Given the description of an element on the screen output the (x, y) to click on. 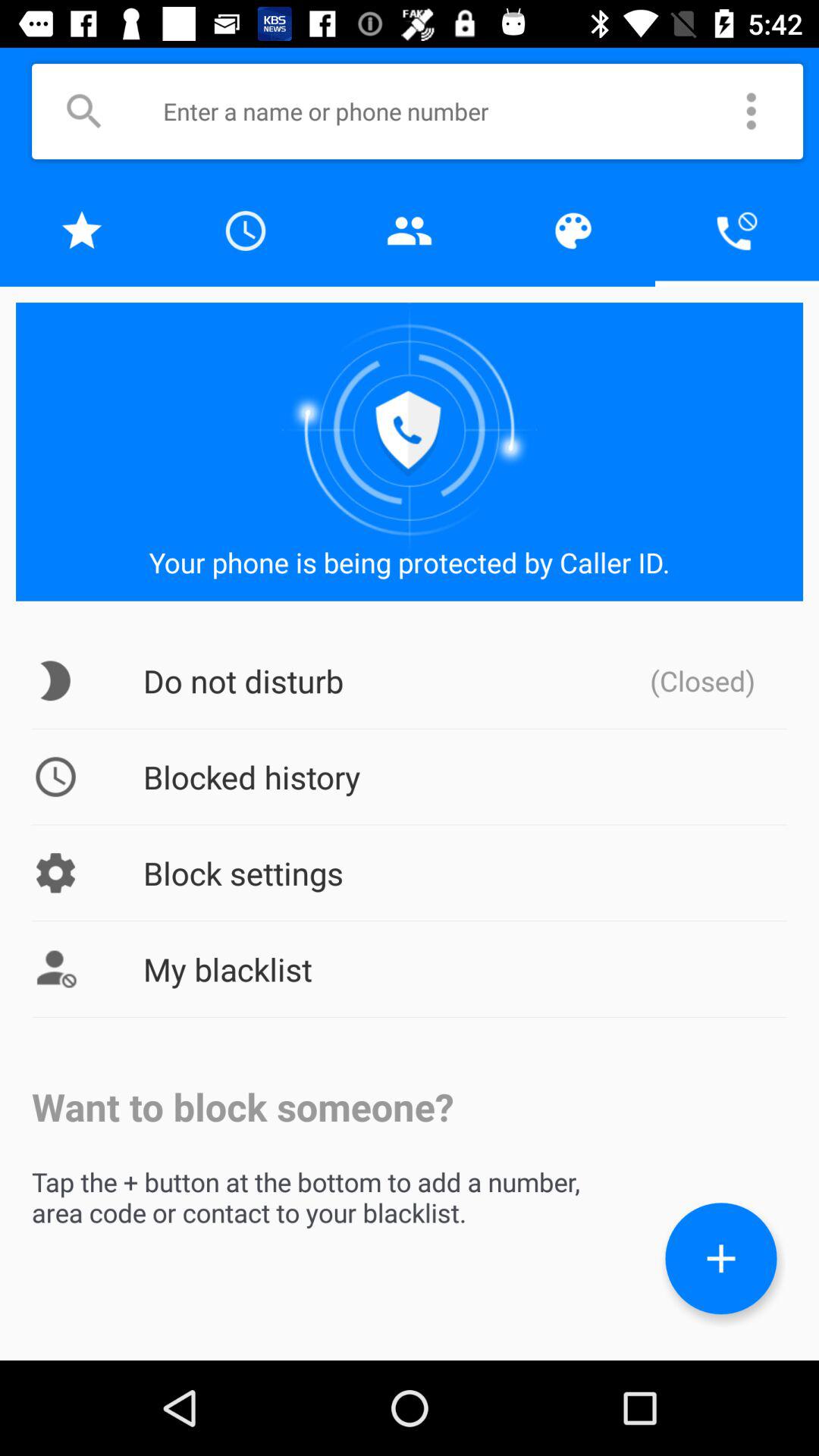
search (83, 111)
